Given the description of an element on the screen output the (x, y) to click on. 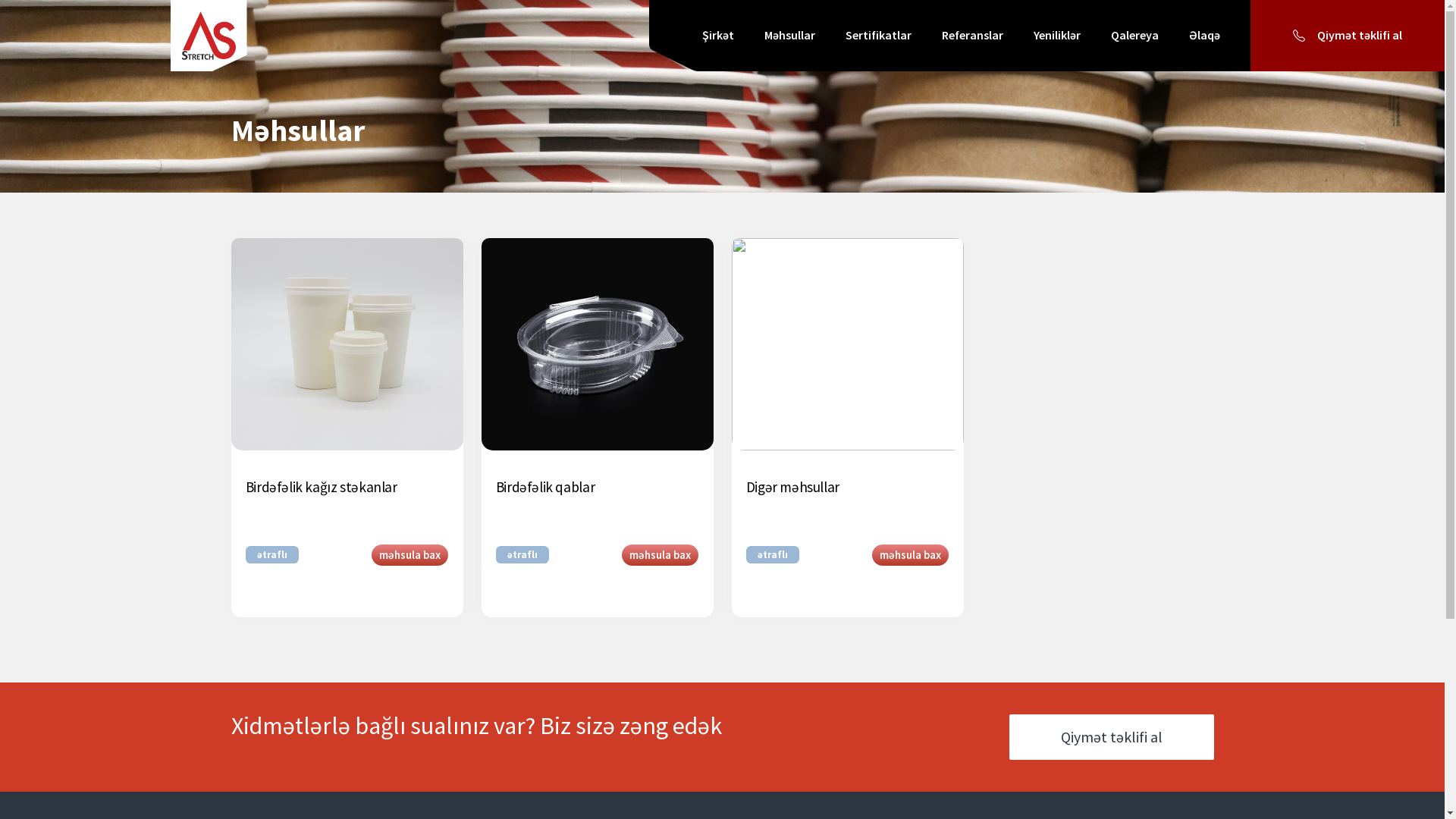
Sertifikatlar Element type: text (878, 35)
Referanslar Element type: text (972, 35)
Qalereya Element type: text (1134, 35)
